Given the description of an element on the screen output the (x, y) to click on. 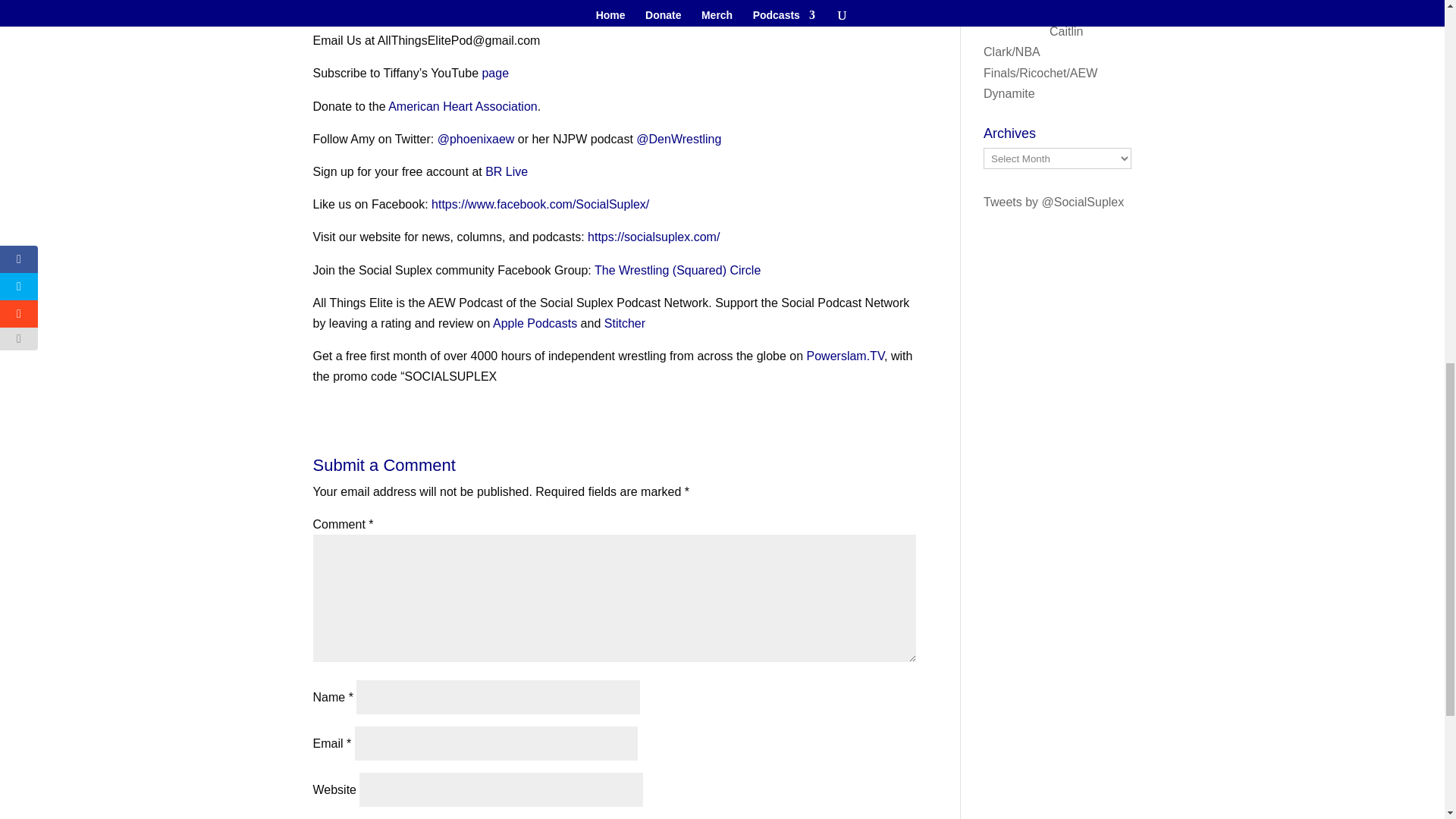
Apple Podcasts (534, 323)
Stitcher (624, 323)
page (494, 72)
BR Live (505, 171)
American Heart Association (462, 106)
Powerslam.TV (845, 355)
